Given the description of an element on the screen output the (x, y) to click on. 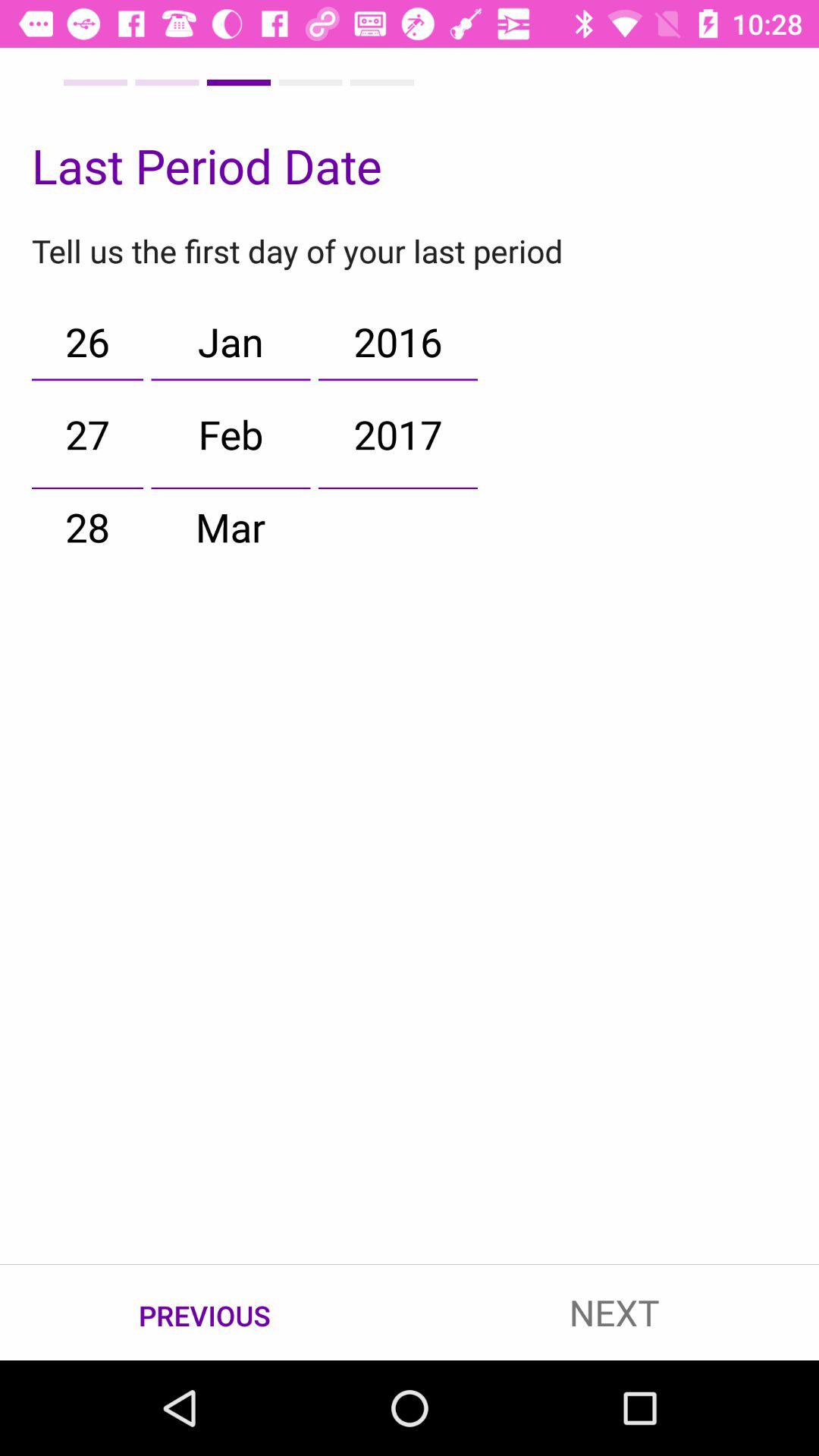
scroll to the next icon (614, 1312)
